Given the description of an element on the screen output the (x, y) to click on. 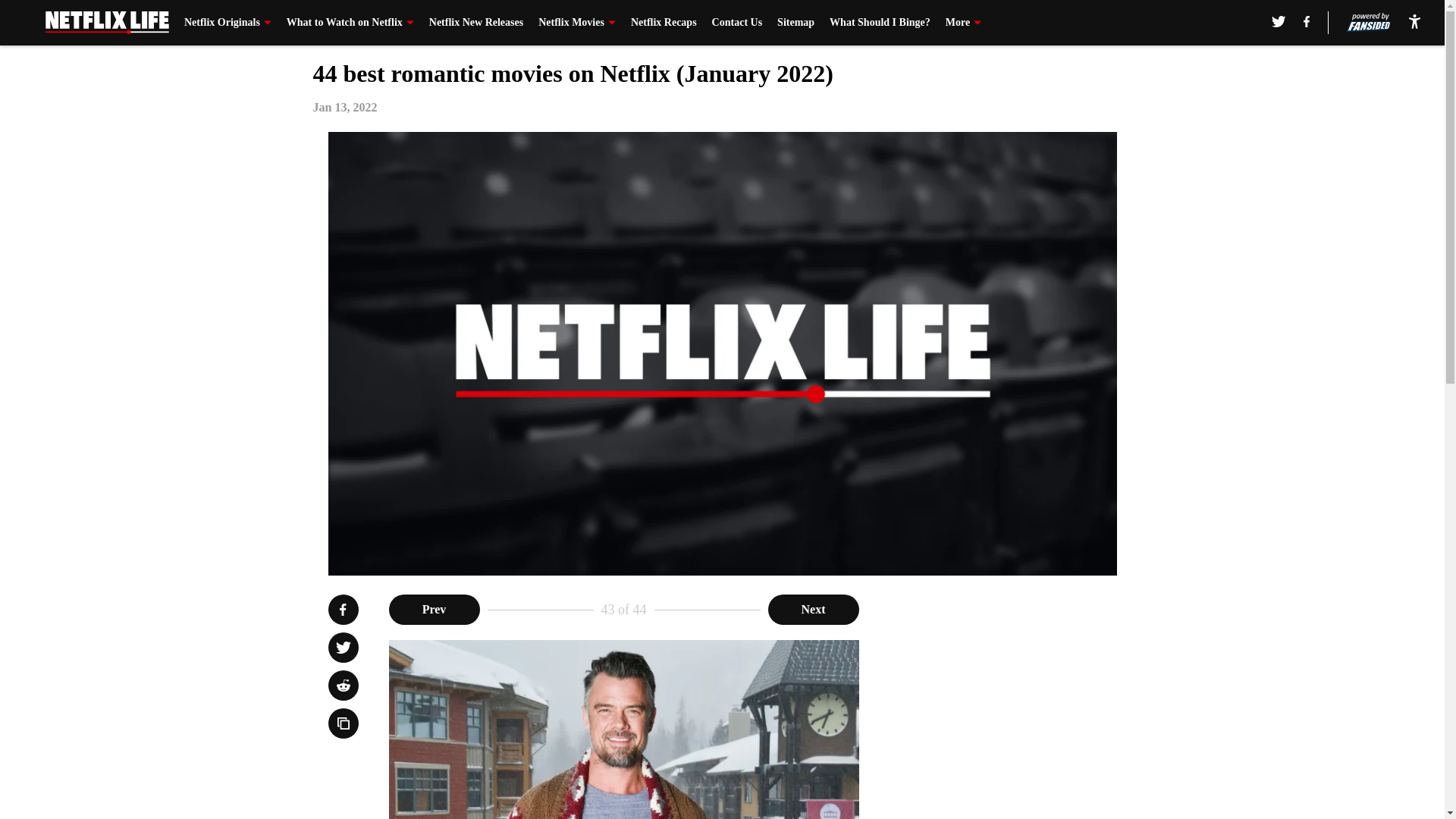
What to Watch on Netflix (349, 22)
Netflix Originals (227, 22)
Netflix Movies (576, 22)
romantic movie - The Lost Husband Netflix (623, 729)
Netflix New Releases (475, 22)
